Given the description of an element on the screen output the (x, y) to click on. 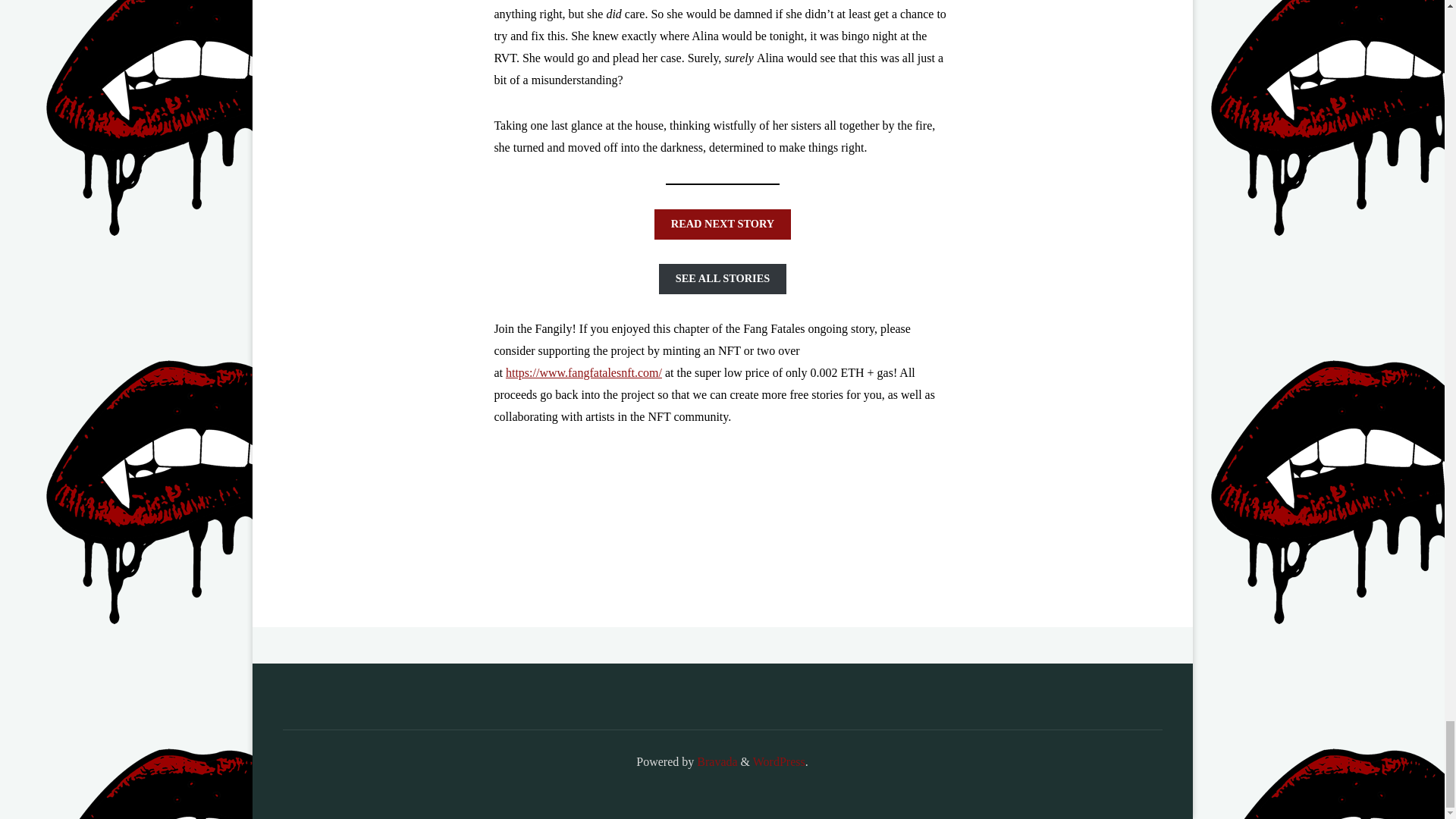
READ NEXT STORY (721, 224)
Bravada WordPress Theme by Cryout Creations (715, 761)
SEE ALL STORIES (722, 278)
Bravada (715, 761)
Semantic Personal Publishing Platform (778, 761)
WordPress (778, 761)
